Given the description of an element on the screen output the (x, y) to click on. 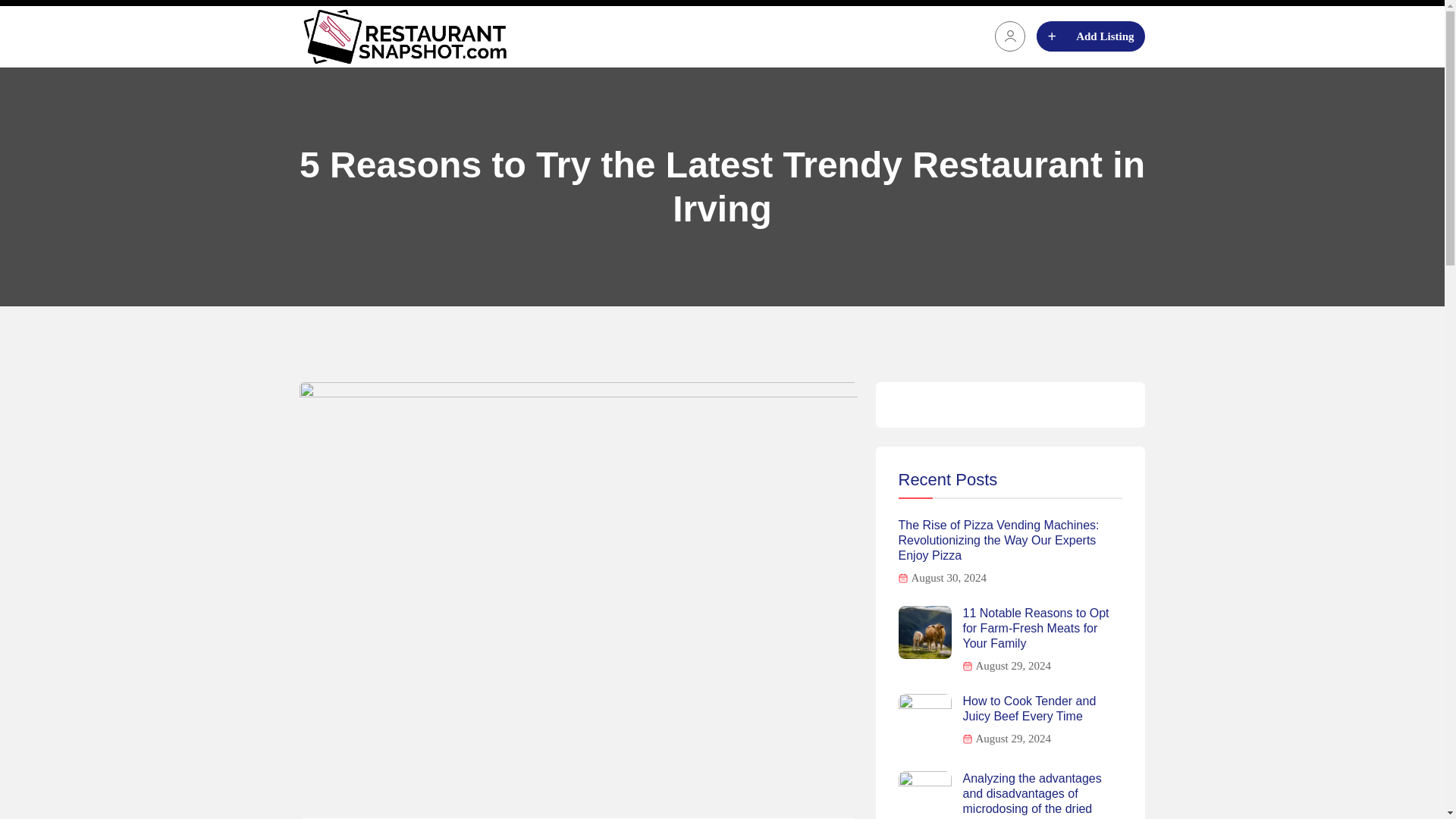
Add Listing (1090, 36)
How to Cook Tender and Juicy Beef Every Time (1042, 708)
